Given the description of an element on the screen output the (x, y) to click on. 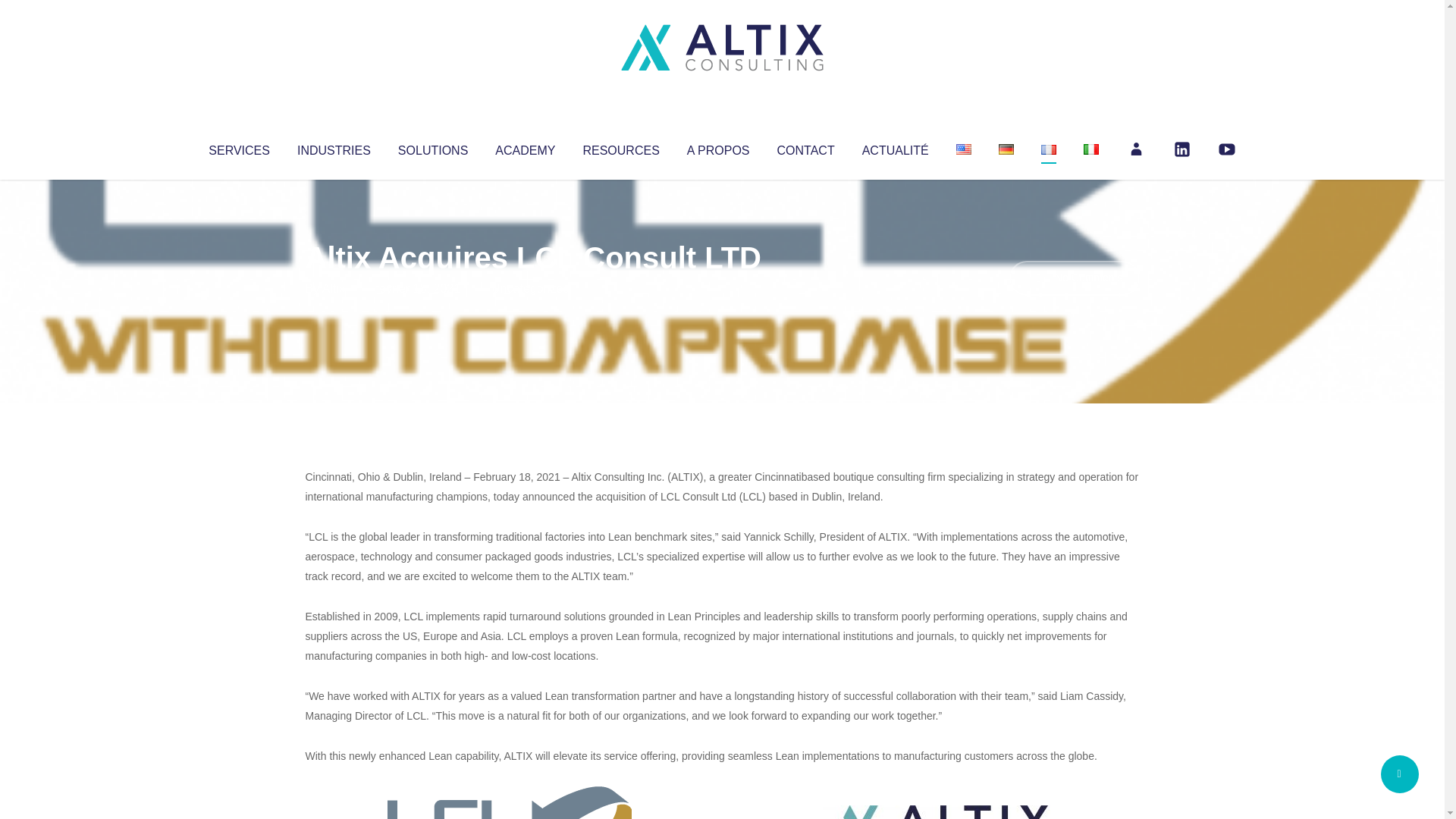
INDUSTRIES (334, 146)
Uncategorized (530, 287)
RESOURCES (620, 146)
SOLUTIONS (432, 146)
No Comments (1073, 278)
ACADEMY (524, 146)
Altix (333, 287)
SERVICES (238, 146)
A PROPOS (718, 146)
Articles par Altix (333, 287)
